Given the description of an element on the screen output the (x, y) to click on. 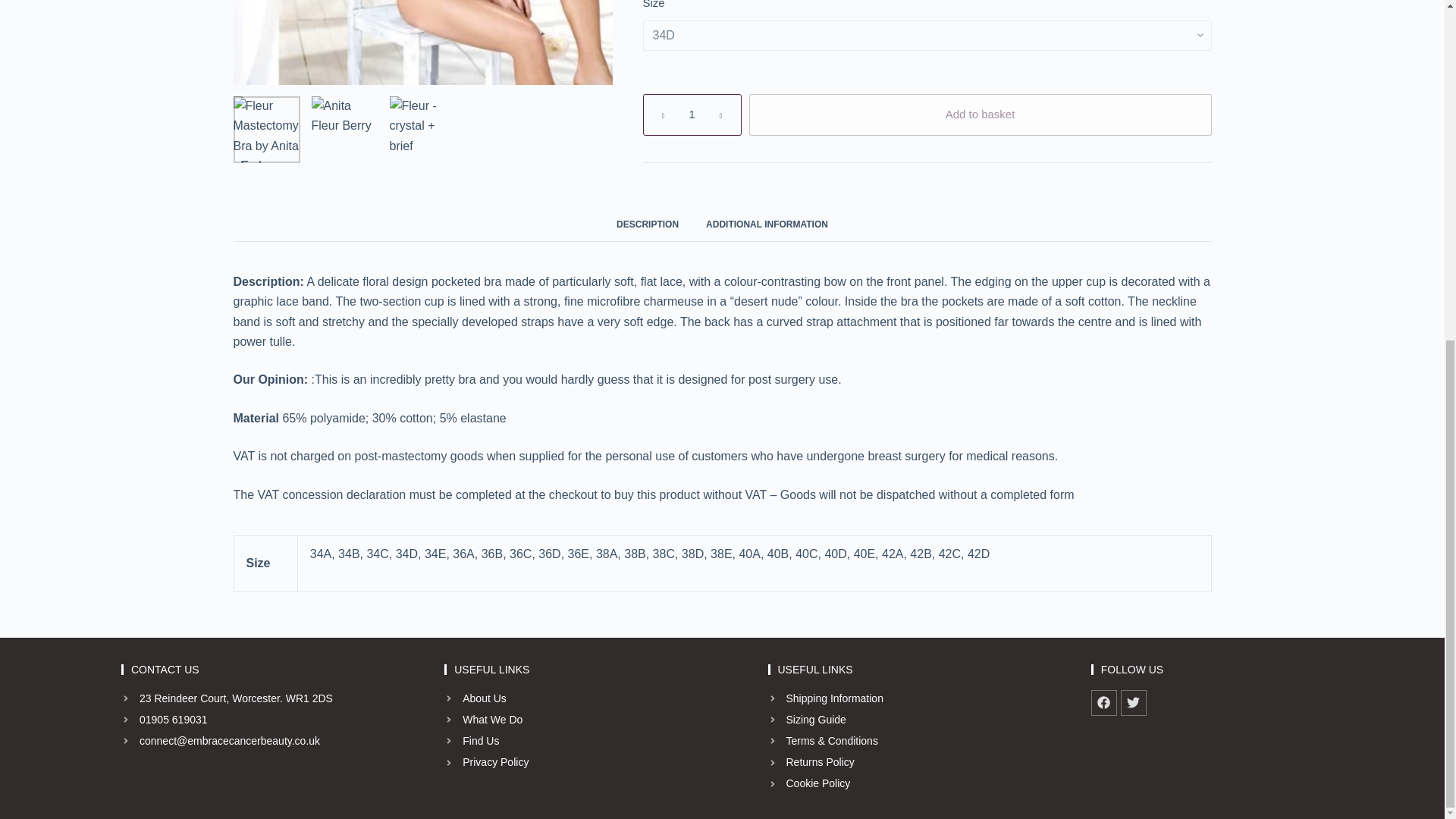
1 (692, 114)
Fleur Mastectomy Bra by Anita - Embrace Worcester (265, 67)
Anita Fleur Berry (344, 67)
Fleur Mastectomy Bra by Anita - Embrace Worcester (422, 11)
